Given the description of an element on the screen output the (x, y) to click on. 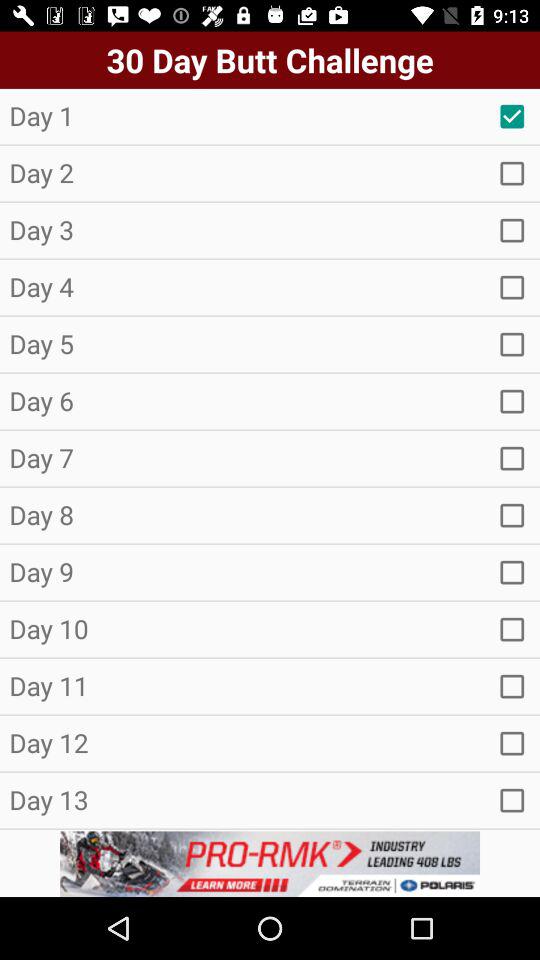
select day 8 (512, 515)
